Given the description of an element on the screen output the (x, y) to click on. 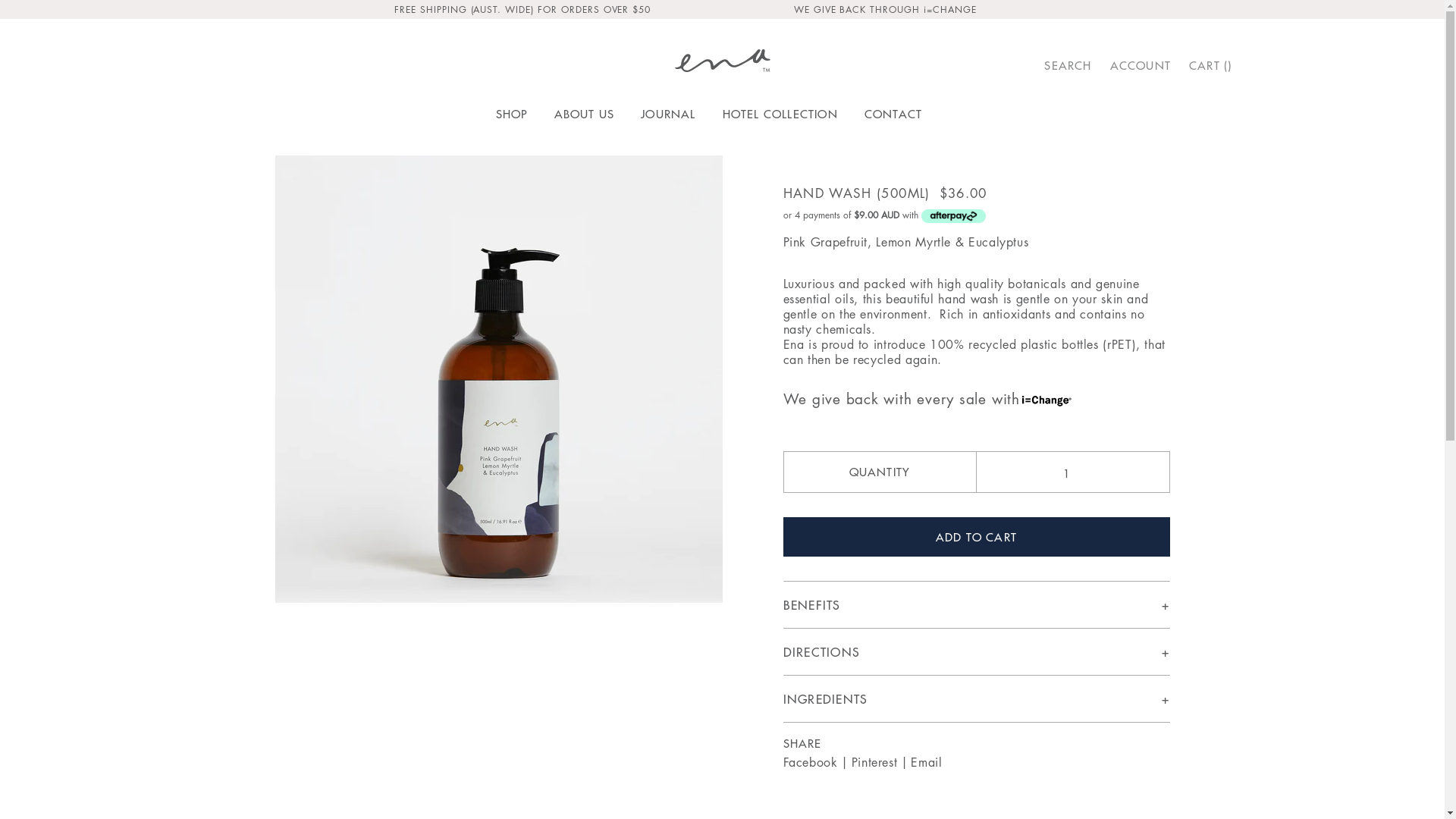
JOURNAL Element type: text (667, 113)
Email Element type: text (925, 761)
DIRECTIONS
+ Element type: text (975, 651)
We give back with every sale with Element type: text (927, 388)
ADD TO CART Element type: text (975, 536)
ABOUT US Element type: text (584, 113)
CONTACT Element type: text (893, 113)
Ena Element type: text (722, 60)
BENEFITS
+ Element type: text (975, 604)
Pinterest
Pin on Pinterest Element type: text (874, 761)
SHOP Element type: text (511, 113)
CART () Element type: text (1210, 65)
ACCOUNT Element type: text (1140, 65)
Skip to content Element type: text (38, 6)
SEARCH Element type: text (1067, 65)
INGREDIENTS
+ Element type: text (975, 698)
HOTEL COLLECTION Element type: text (779, 113)
Facebook
Share on Facebook Element type: text (809, 761)
HAND WASH (500ML) Element type: text (855, 192)
